Given the description of an element on the screen output the (x, y) to click on. 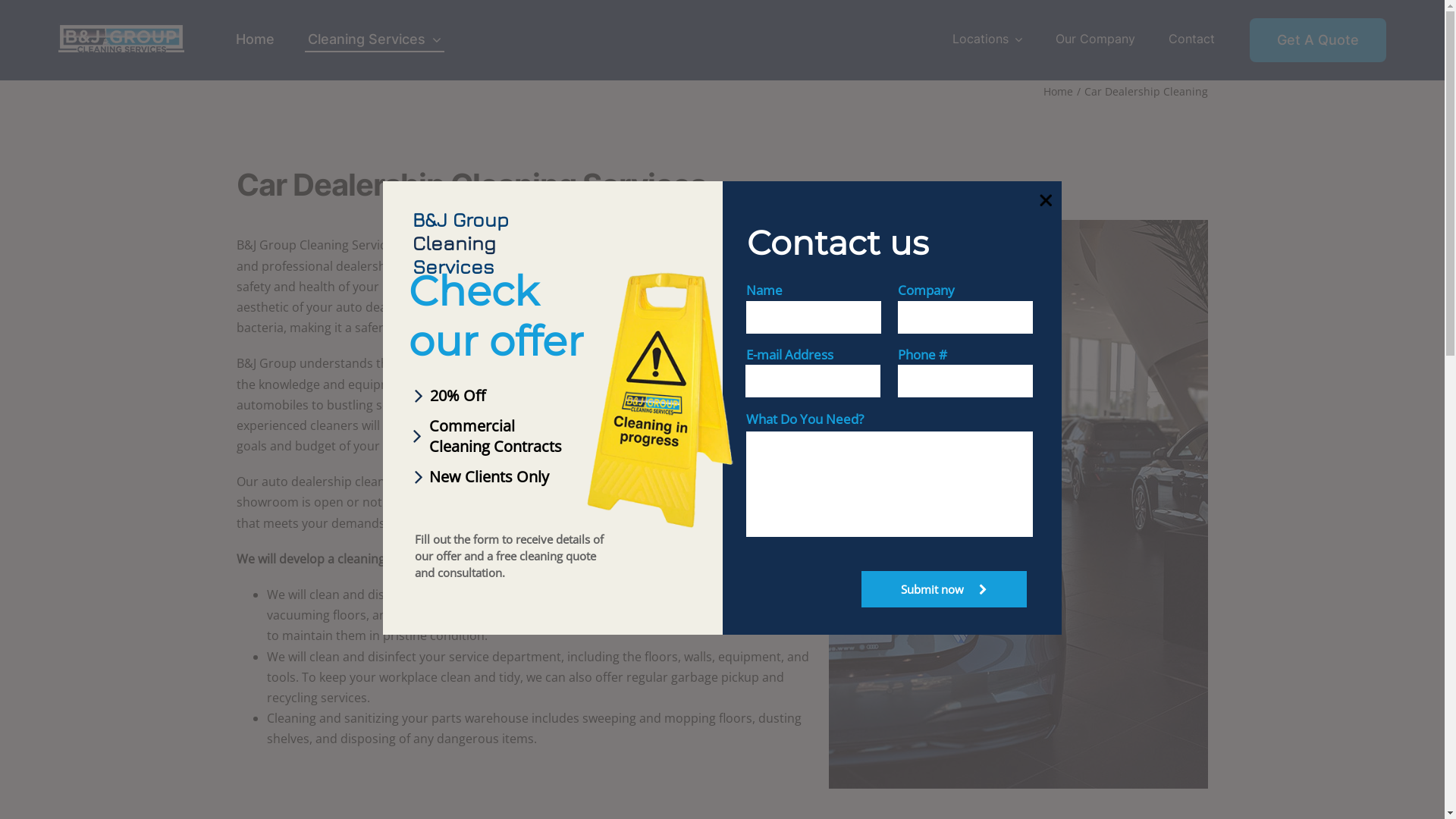
Home Element type: text (1058, 91)
Contact Element type: text (1191, 39)
Home Element type: text (254, 40)
Get A Quote Element type: text (1317, 40)
Submit now      Element type: text (943, 589)
Locations Element type: text (987, 39)
Car dealership cleaning services in Calgary Element type: hover (1018, 503)
Our Company Element type: text (1095, 39)
Cleaning Services Element type: text (374, 40)
